Given the description of an element on the screen output the (x, y) to click on. 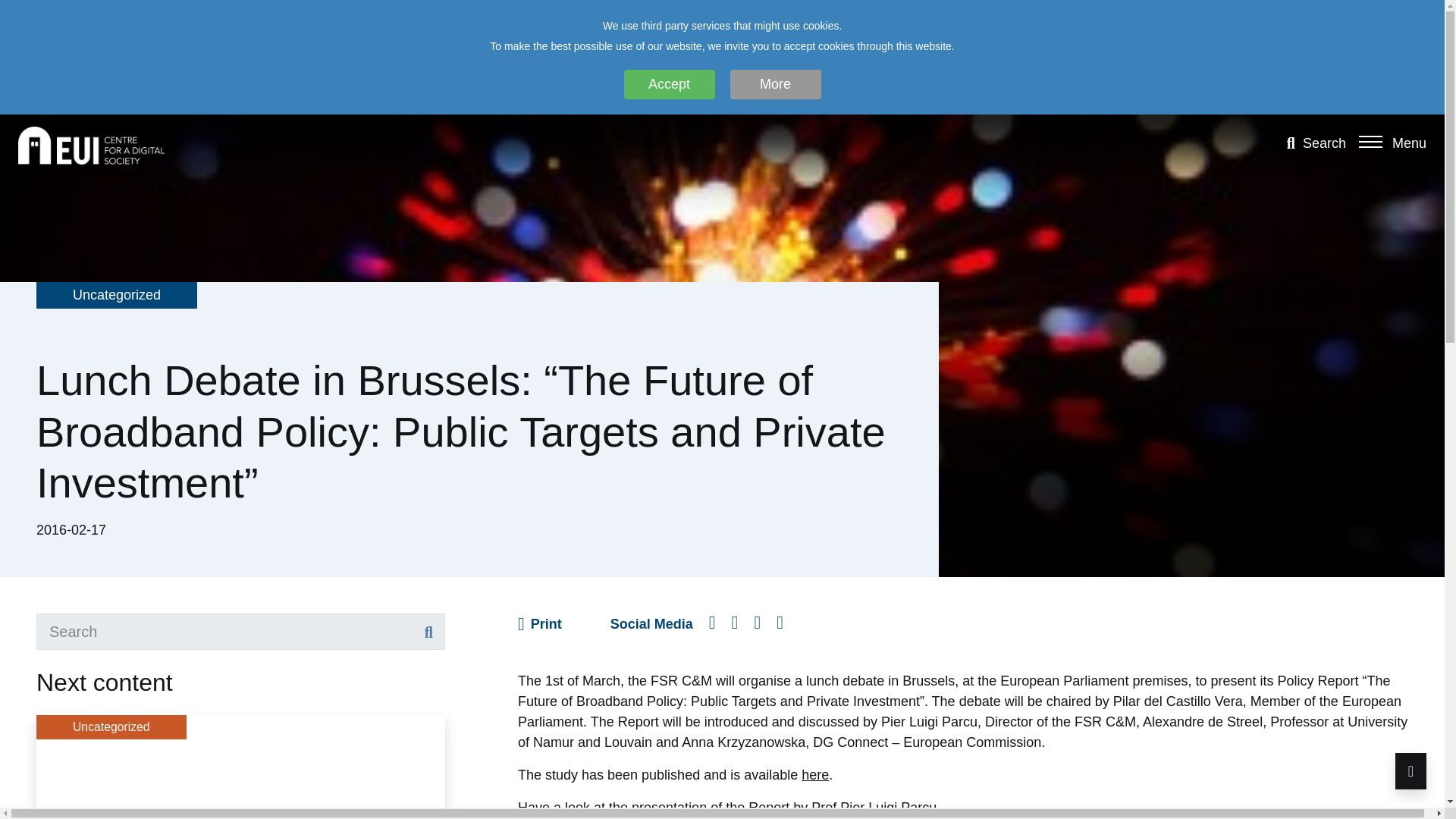
More (775, 84)
Search (428, 632)
Go to EUI home page (90, 144)
here (815, 774)
Print (540, 624)
Accept (668, 84)
Uncategorized (116, 294)
Submit (428, 632)
open or close the menu (1372, 141)
Print this page (540, 624)
Have a look at the presentation (612, 807)
